Given the description of an element on the screen output the (x, y) to click on. 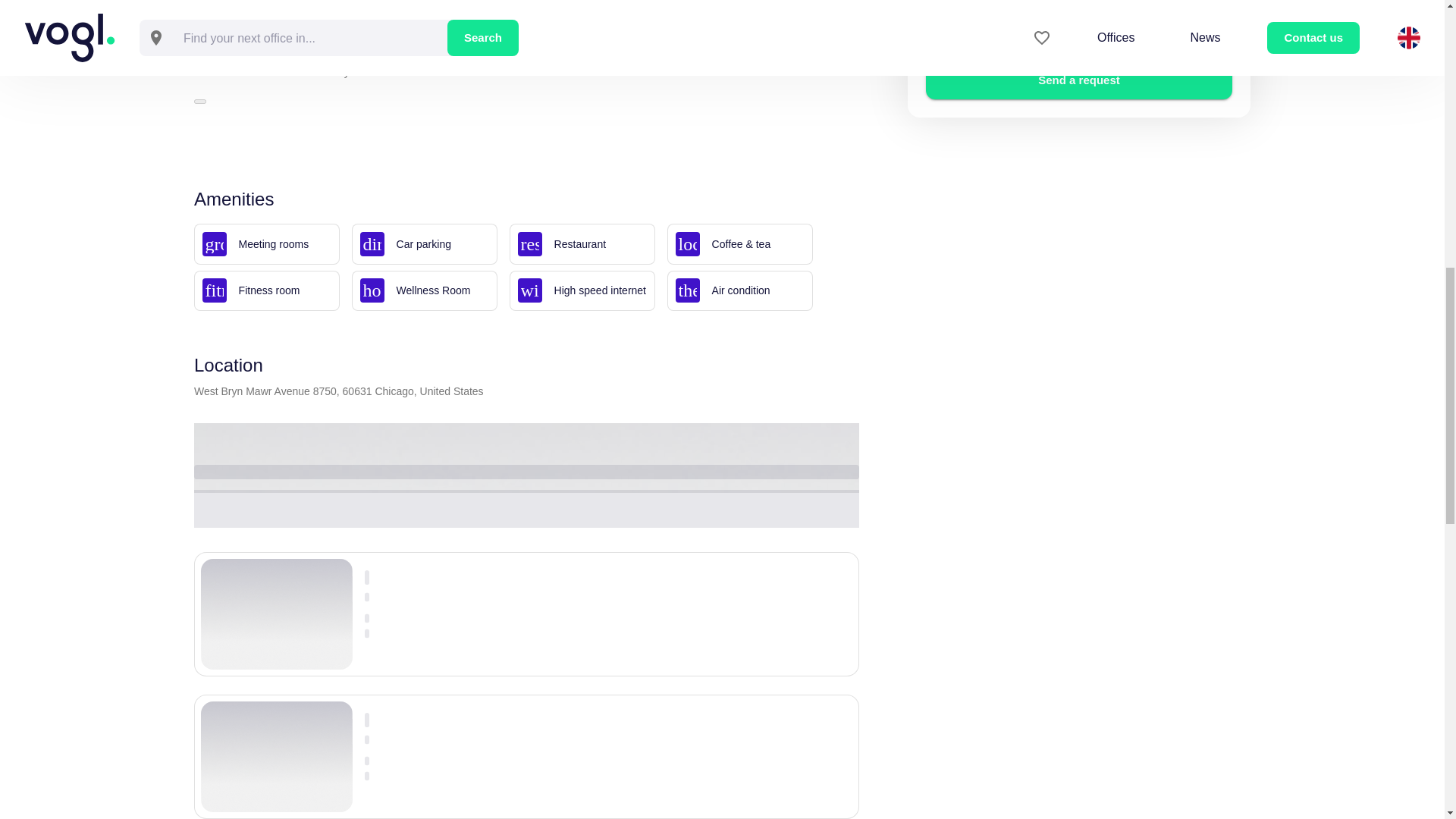
Send a request (1078, 80)
